Given the description of an element on the screen output the (x, y) to click on. 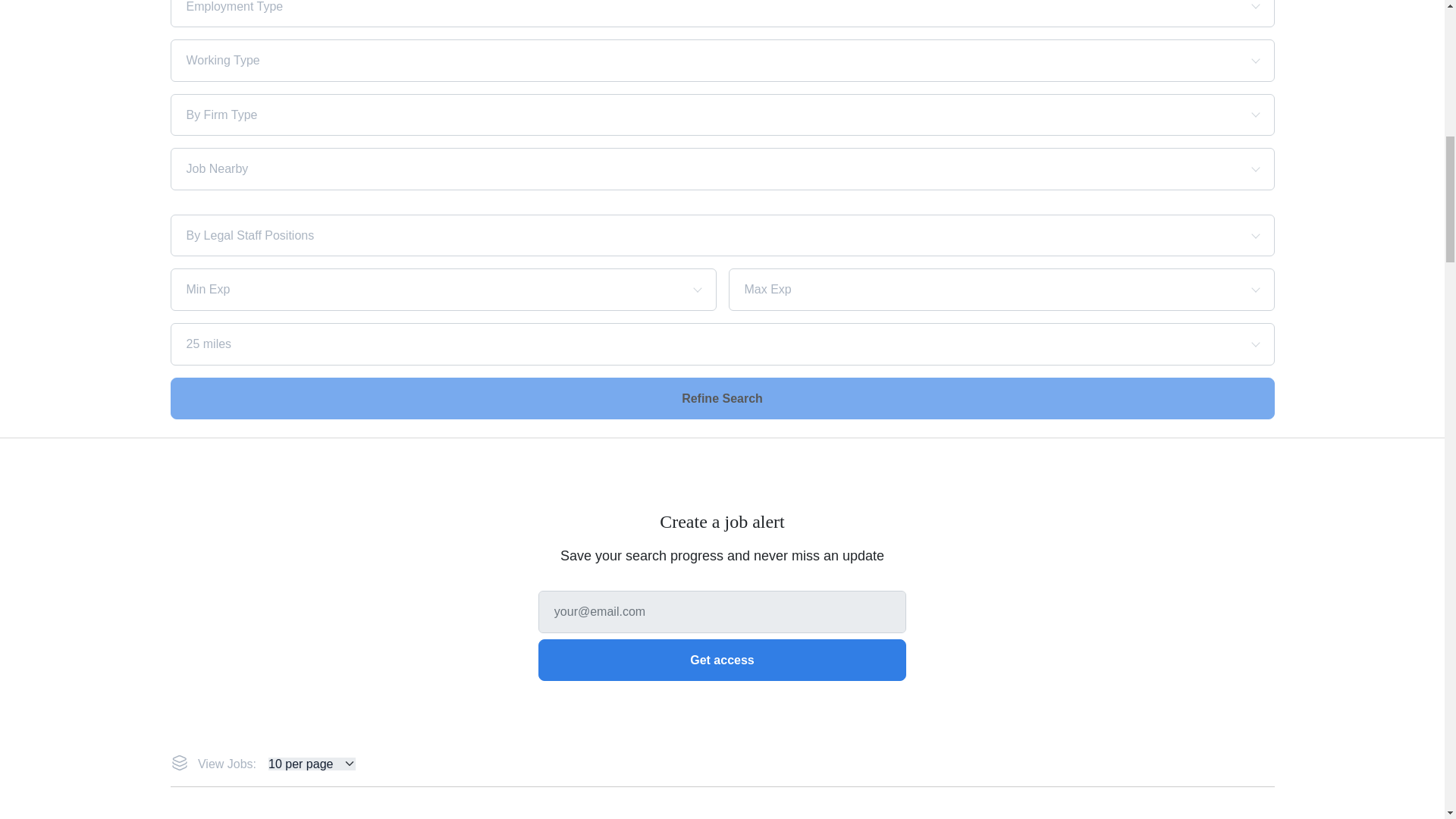
Min Exp (417, 289)
25 miles (668, 344)
Employment Type (668, 6)
Refine Search (722, 398)
Working Type (668, 60)
By Legal Staff Positions (668, 235)
Max Exp (975, 289)
By Firm Type (668, 115)
Job Nearby (668, 169)
Search Jobs (722, 398)
